Given the description of an element on the screen output the (x, y) to click on. 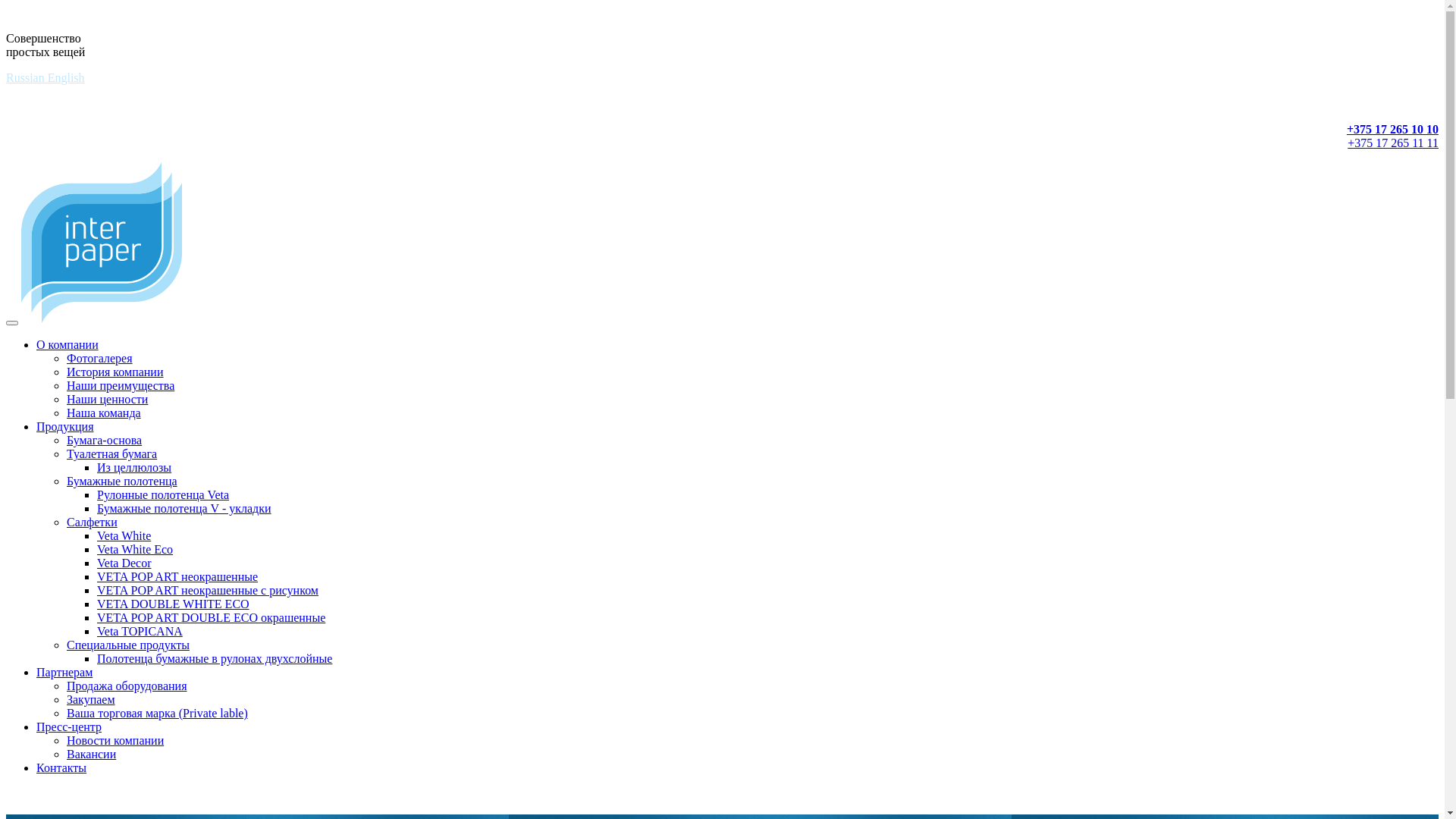
Veta TOPICANA Element type: text (139, 630)
English Element type: text (65, 77)
Veta White Element type: text (123, 535)
Russian Element type: text (26, 77)
+375 17 265 11 11 Element type: text (1392, 142)
Veta White Eco Element type: text (134, 548)
VETA DOUBLE WHITE ECO Element type: text (173, 603)
Veta Decor Element type: text (124, 562)
+375 17 265 10 10 Element type: text (1392, 128)
